Given the description of an element on the screen output the (x, y) to click on. 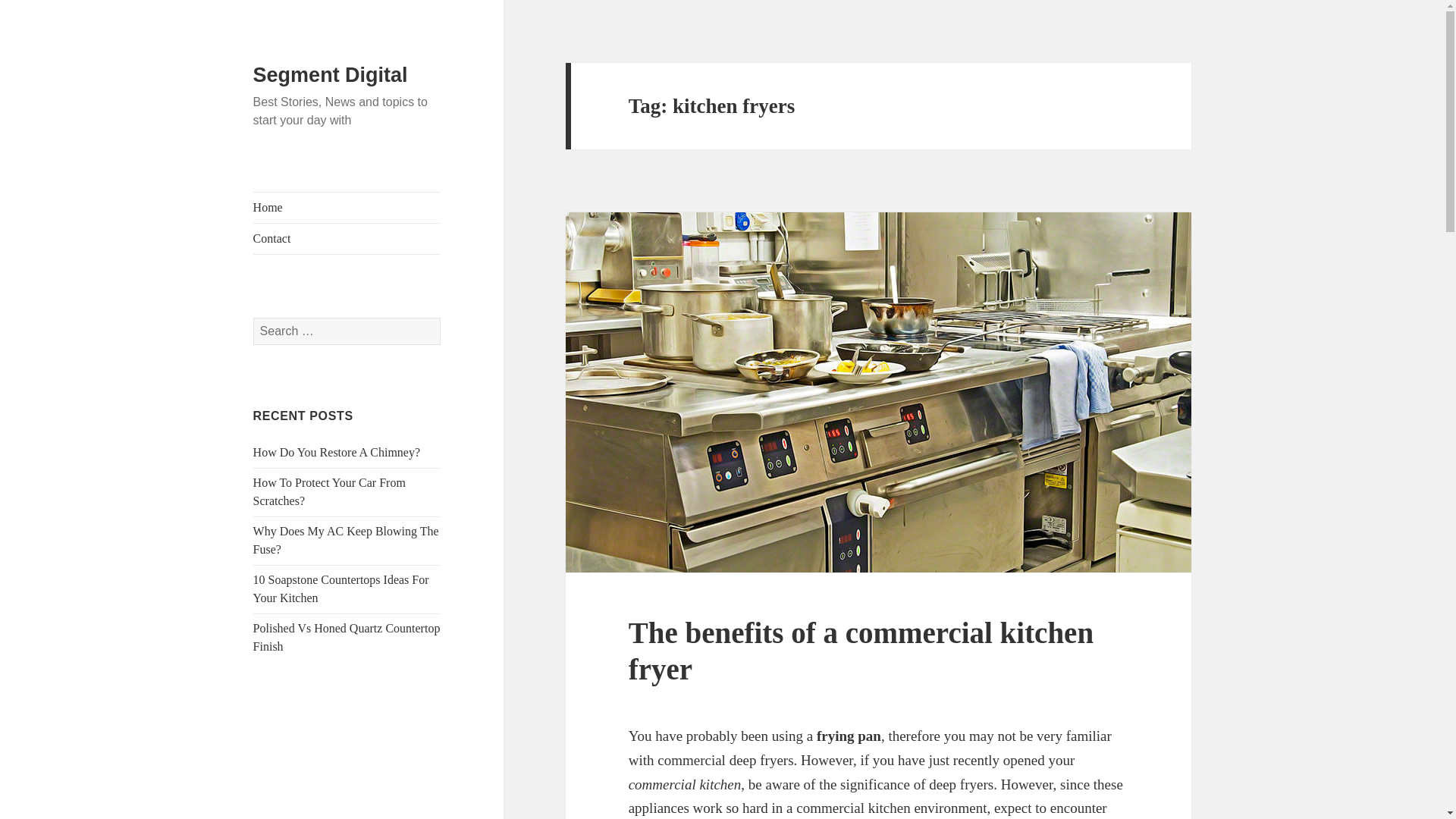
Home (347, 207)
Why Does My AC Keep Blowing The Fuse? (346, 540)
The benefits of a commercial kitchen fryer (860, 650)
Polished Vs Honed Quartz Countertop Finish (347, 636)
How To Protect Your Car From Scratches? (329, 490)
Contact (347, 238)
Segment Digital (330, 74)
10 Soapstone Countertops Ideas For Your Kitchen (341, 588)
